Given the description of an element on the screen output the (x, y) to click on. 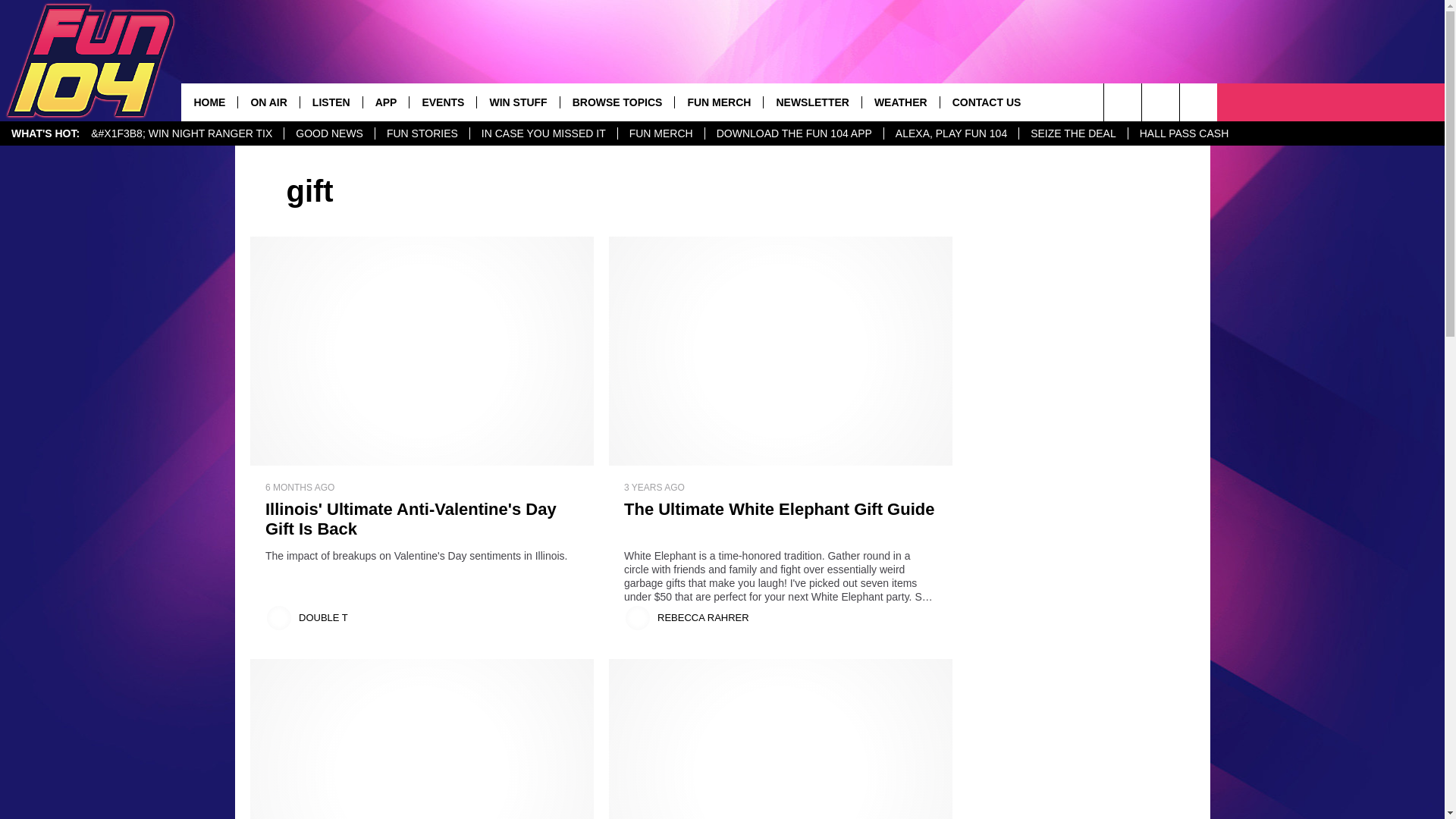
SEIZE THE DEAL (1071, 133)
FUN MERCH (660, 133)
HOME (208, 102)
HALL PASS CASH (1183, 133)
GOOD NEWS (328, 133)
BROWSE TOPICS (617, 102)
ON AIR (267, 102)
ALEXA, PLAY FUN 104 (950, 133)
IN CASE YOU MISSED IT (542, 133)
WIN STUFF (517, 102)
APP (385, 102)
DOWNLOAD THE FUN 104 APP (793, 133)
FUN STORIES (421, 133)
LISTEN (330, 102)
EVENTS (442, 102)
